Given the description of an element on the screen output the (x, y) to click on. 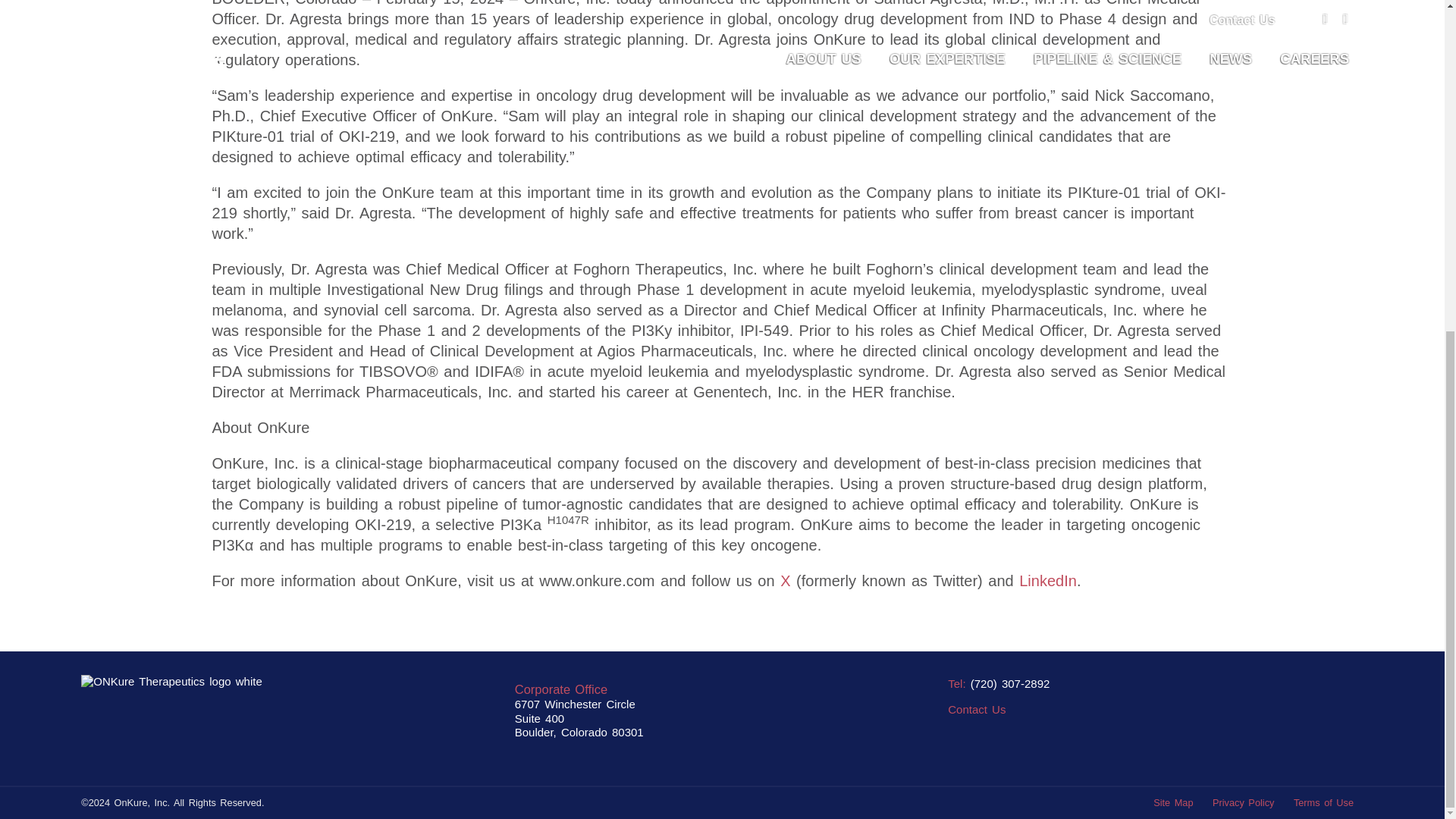
Privacy Policy (1243, 802)
Contact Us (976, 708)
button (976, 708)
Site Map (1172, 802)
Terms of Use (1324, 802)
LinkedIn (1048, 580)
